Given the description of an element on the screen output the (x, y) to click on. 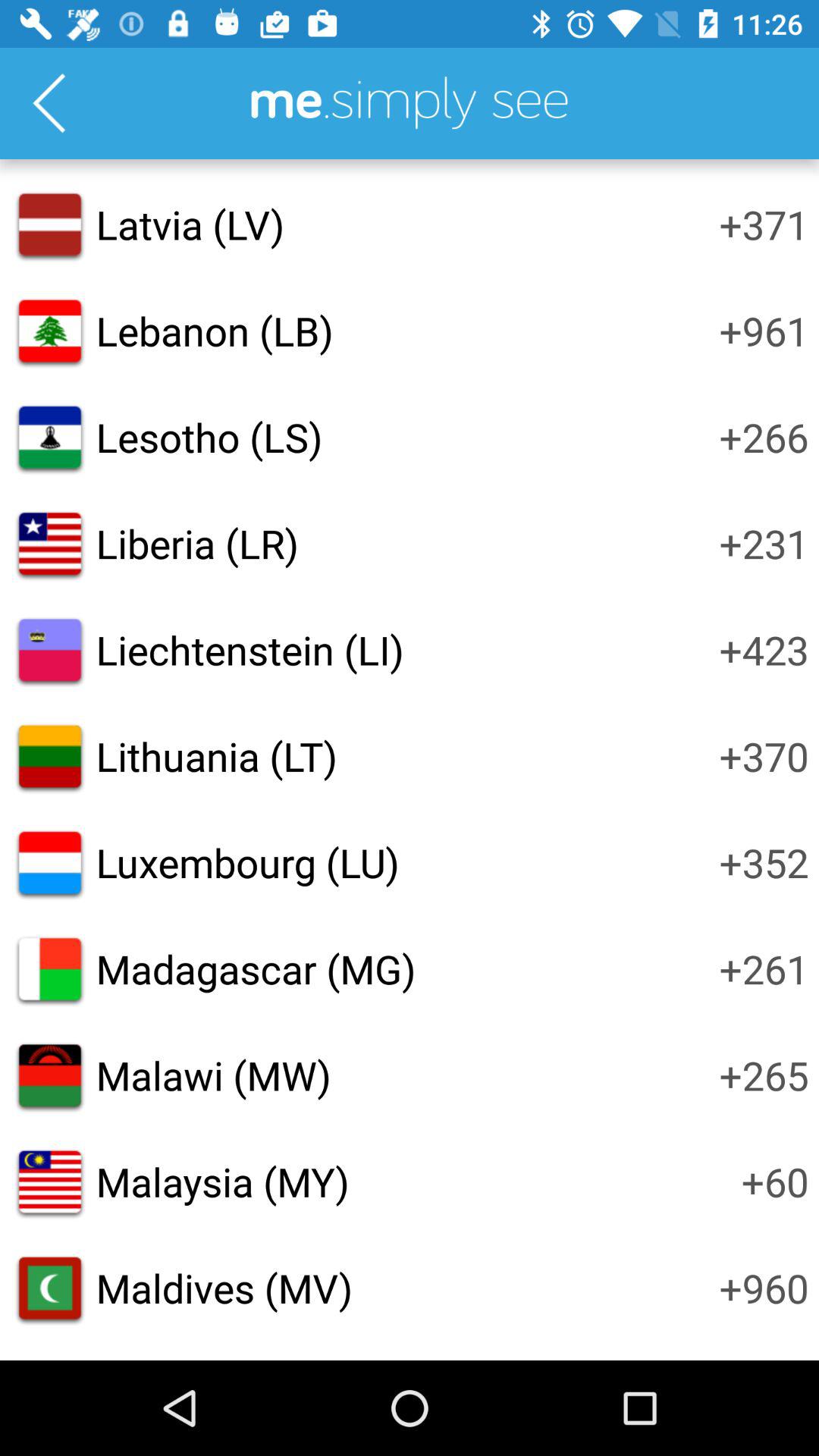
go back (48, 102)
